Given the description of an element on the screen output the (x, y) to click on. 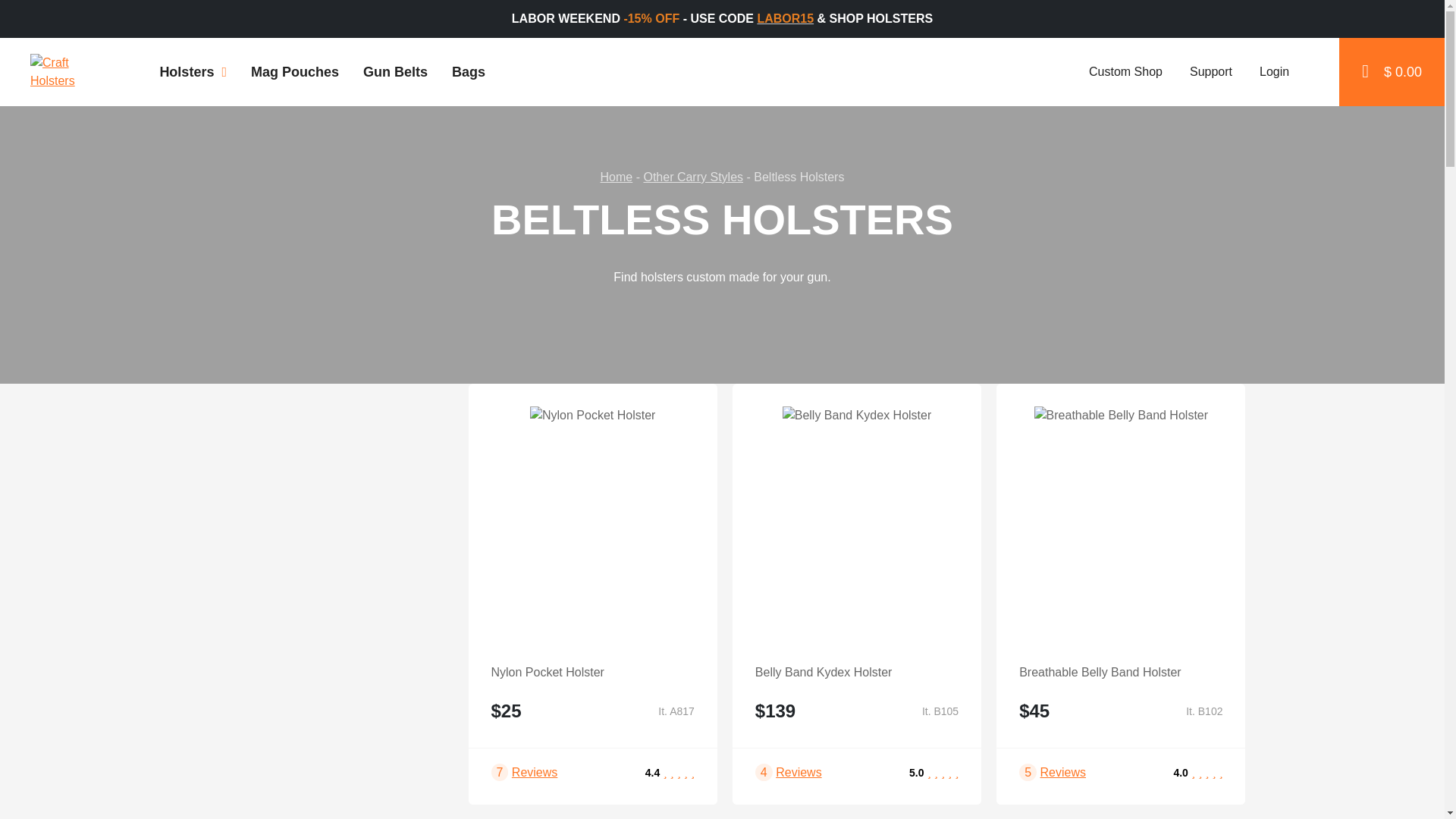
Other Carry Styles (692, 176)
Bags (468, 71)
Reviews (534, 771)
Mag Pouches (294, 71)
Login (1272, 71)
Home (616, 176)
Holsters (192, 71)
Support (1209, 71)
Reviews (1063, 771)
Reviews (798, 771)
